Given the description of an element on the screen output the (x, y) to click on. 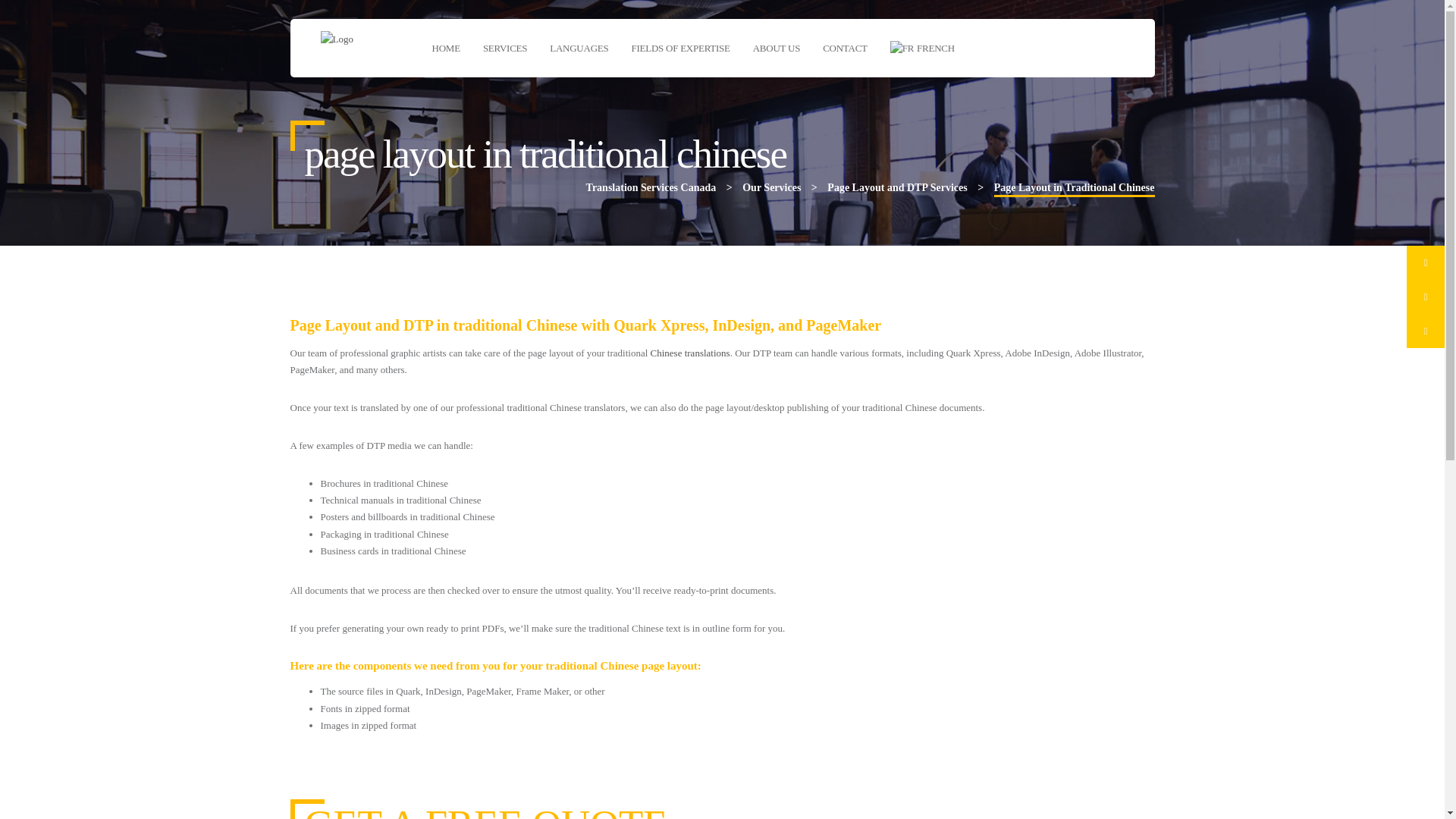
SERVICES (504, 47)
LANGUAGES (579, 47)
French (922, 47)
Go to Page Layout and DTP Services. (896, 187)
Go to Our Services. (771, 187)
Go to Translation Services Canada. (651, 187)
